Given the description of an element on the screen output the (x, y) to click on. 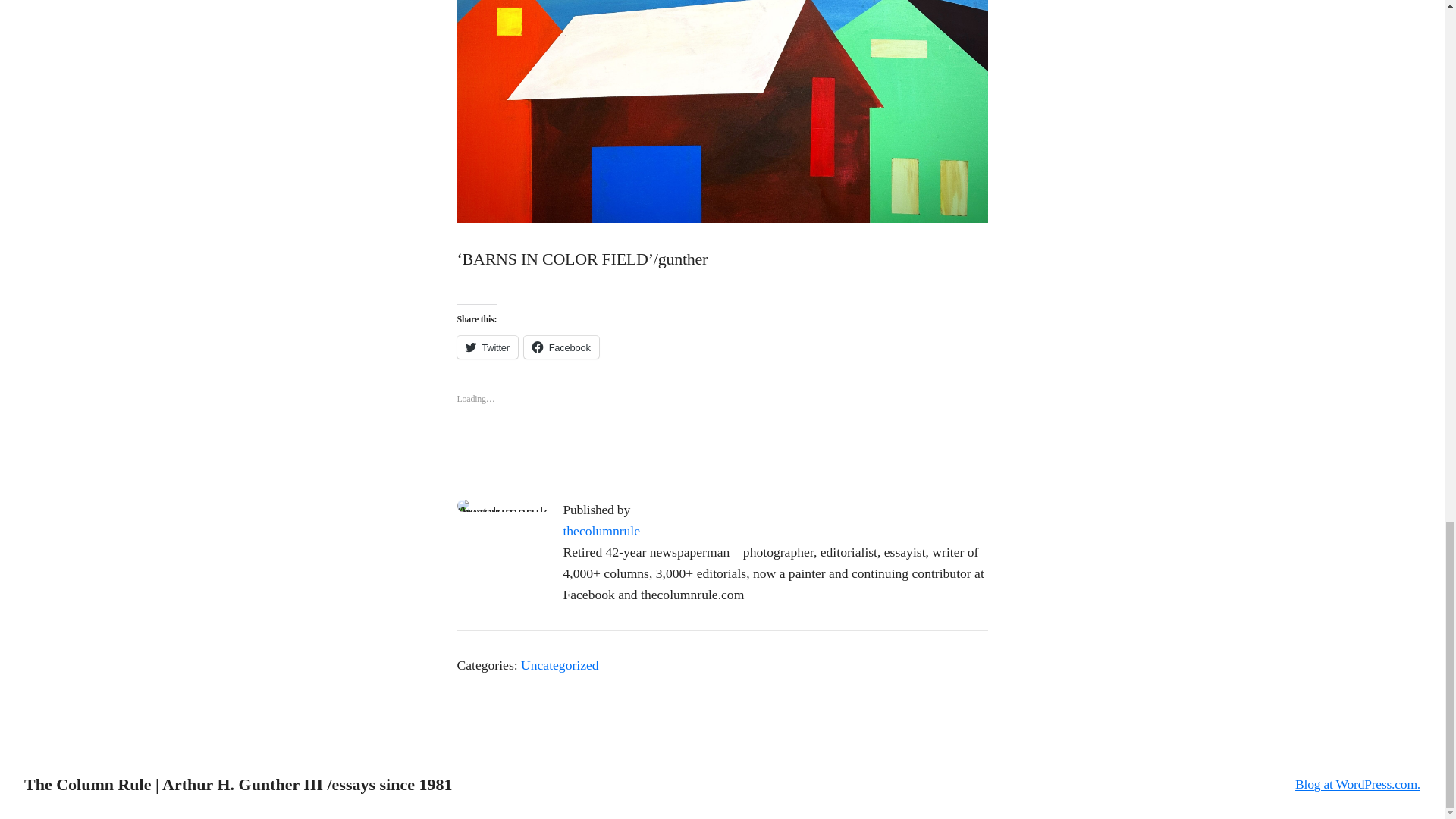
Blog at WordPress.com. (1358, 783)
thecolumnrule (601, 530)
Click to share on Facebook (561, 346)
Facebook (561, 346)
Click to share on Twitter (486, 346)
Like or Reblog (722, 404)
Uncategorized (559, 664)
Twitter (486, 346)
